Given the description of an element on the screen output the (x, y) to click on. 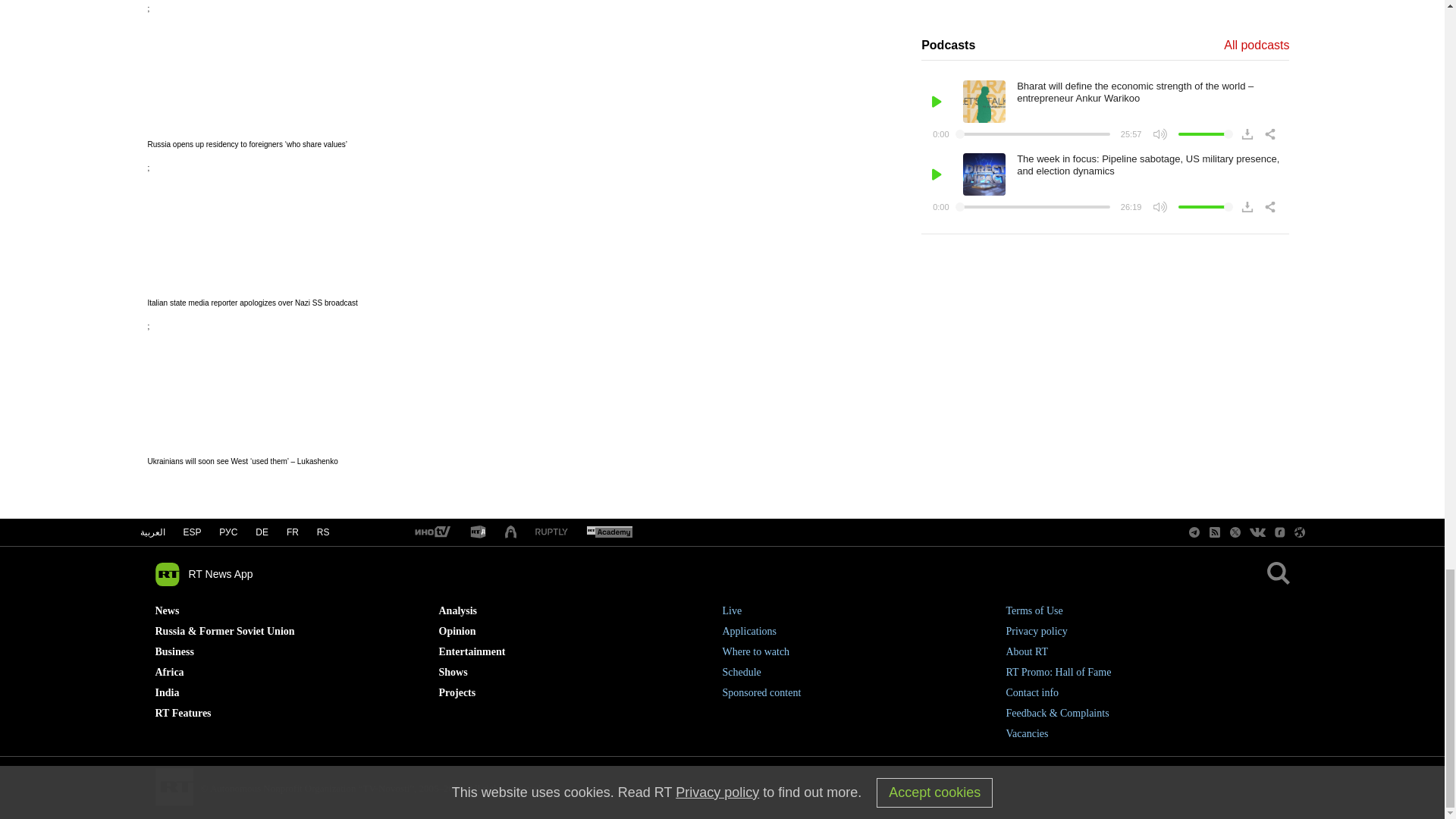
RT  (608, 532)
RT  (478, 532)
RT  (431, 532)
RT  (551, 532)
